Given the description of an element on the screen output the (x, y) to click on. 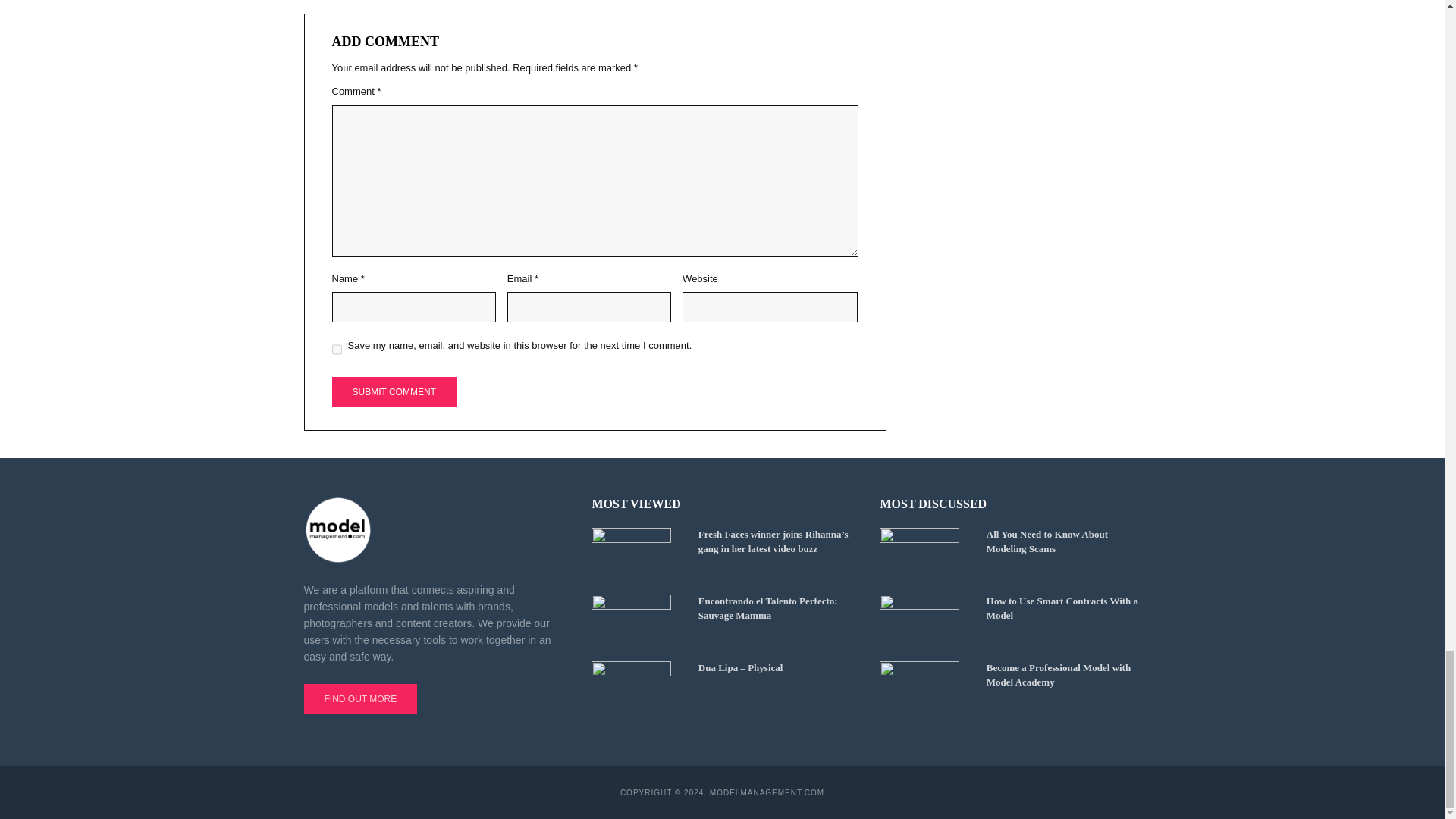
Become a Professional Model with Model Academy (925, 687)
Encontrando el Talento Perfecto: Sauvage Mamma (637, 620)
All You Need to Know About Modeling Scams (925, 553)
How to Use Smart Contracts With a Model (925, 620)
Submit Comment (394, 391)
